Given the description of an element on the screen output the (x, y) to click on. 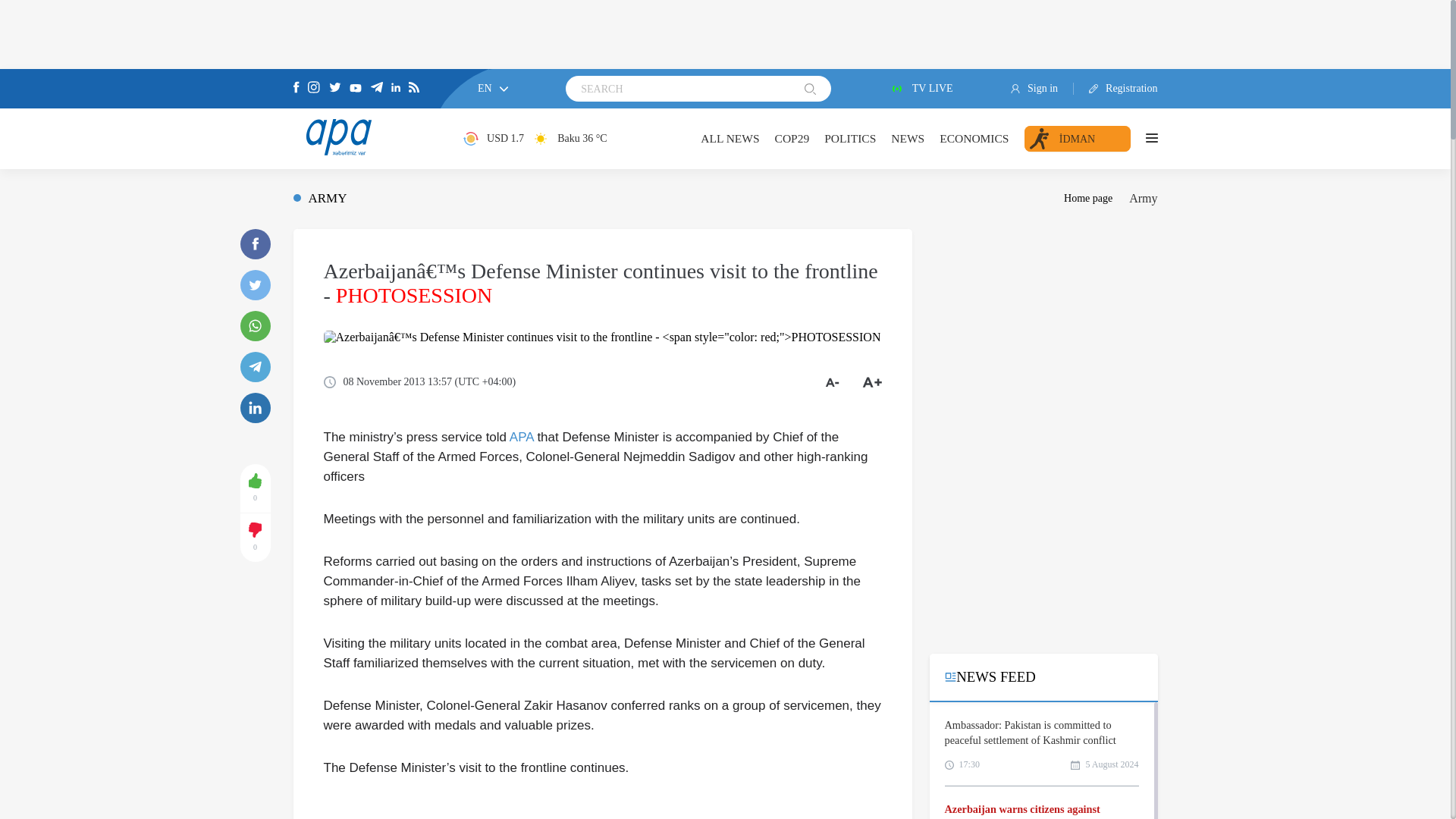
POLITICS (850, 138)
Registration (1115, 88)
Iframe (1043, 535)
TV LIVE (921, 88)
ALL NEWS (729, 138)
ECONOMICS (974, 138)
COP29 (791, 138)
NEWS (907, 138)
USD 1.7 (493, 138)
Sign in (1042, 88)
